Given the description of an element on the screen output the (x, y) to click on. 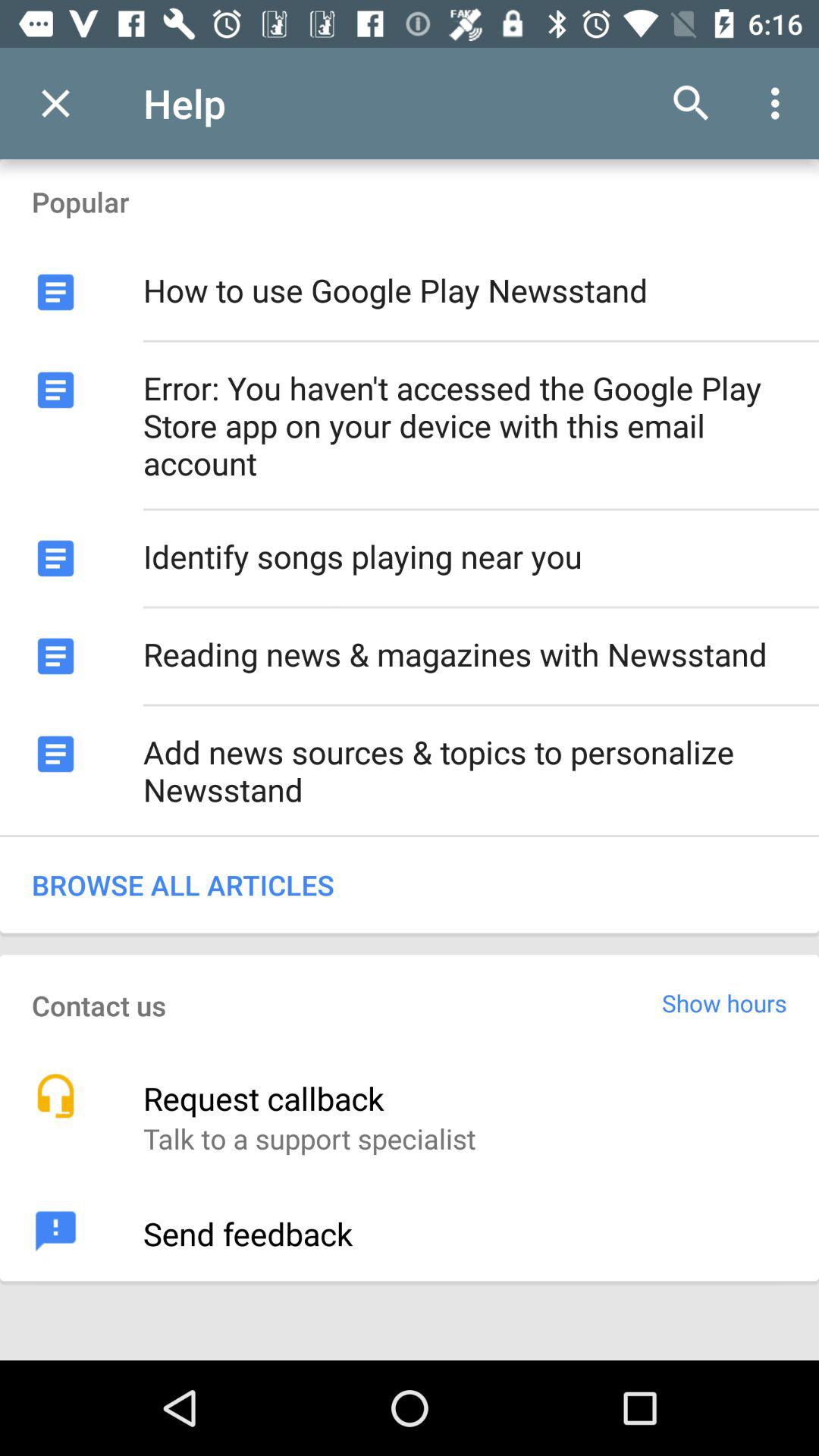
turn off icon next to the help app (55, 103)
